Given the description of an element on the screen output the (x, y) to click on. 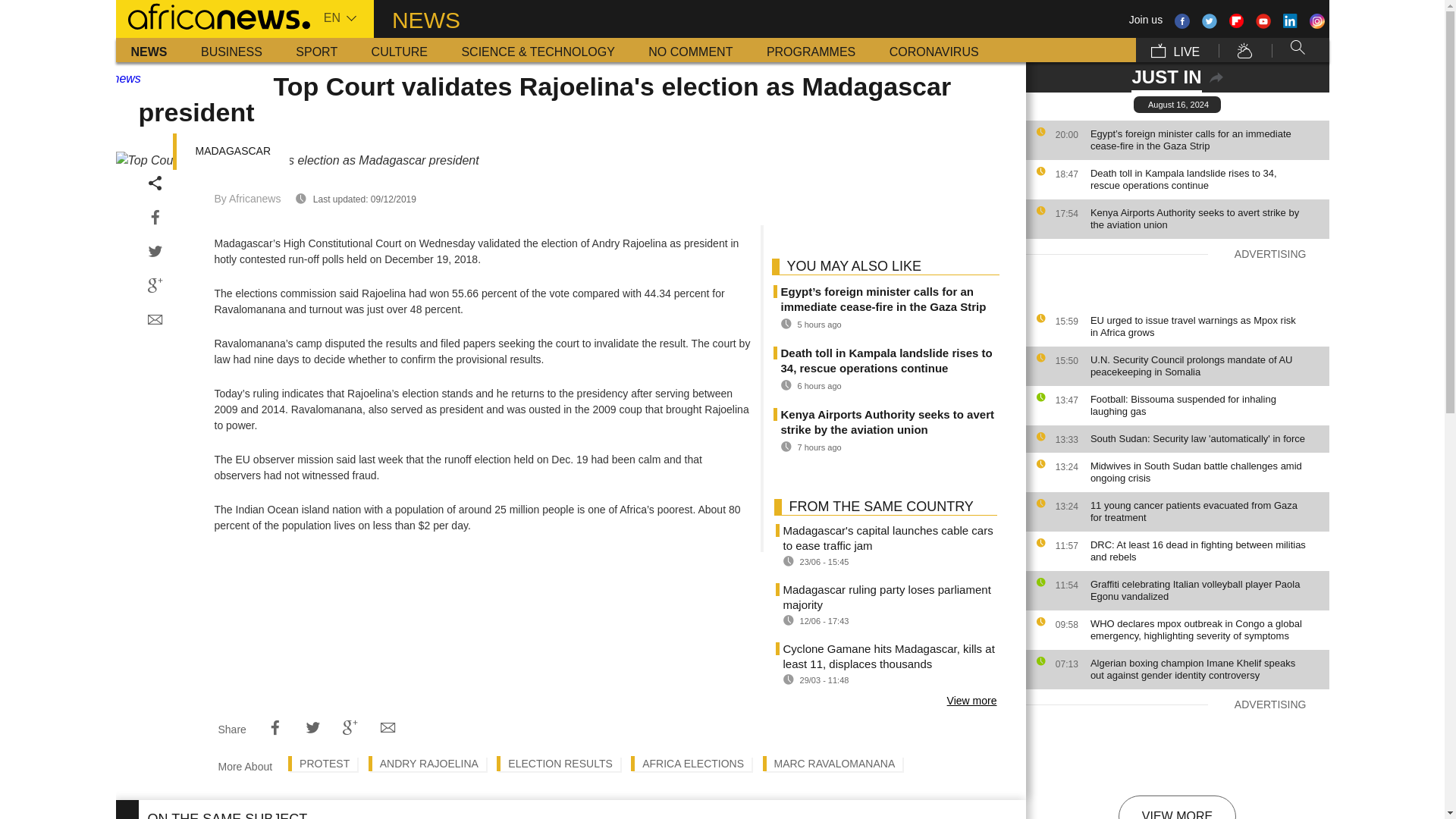
NO COMMENT (690, 49)
PROGRAMMES (810, 49)
BUSINESS (232, 49)
News (148, 49)
Business (232, 49)
NEWS (148, 49)
Sport (316, 49)
CORONAVIRUS (934, 49)
